Given the description of an element on the screen output the (x, y) to click on. 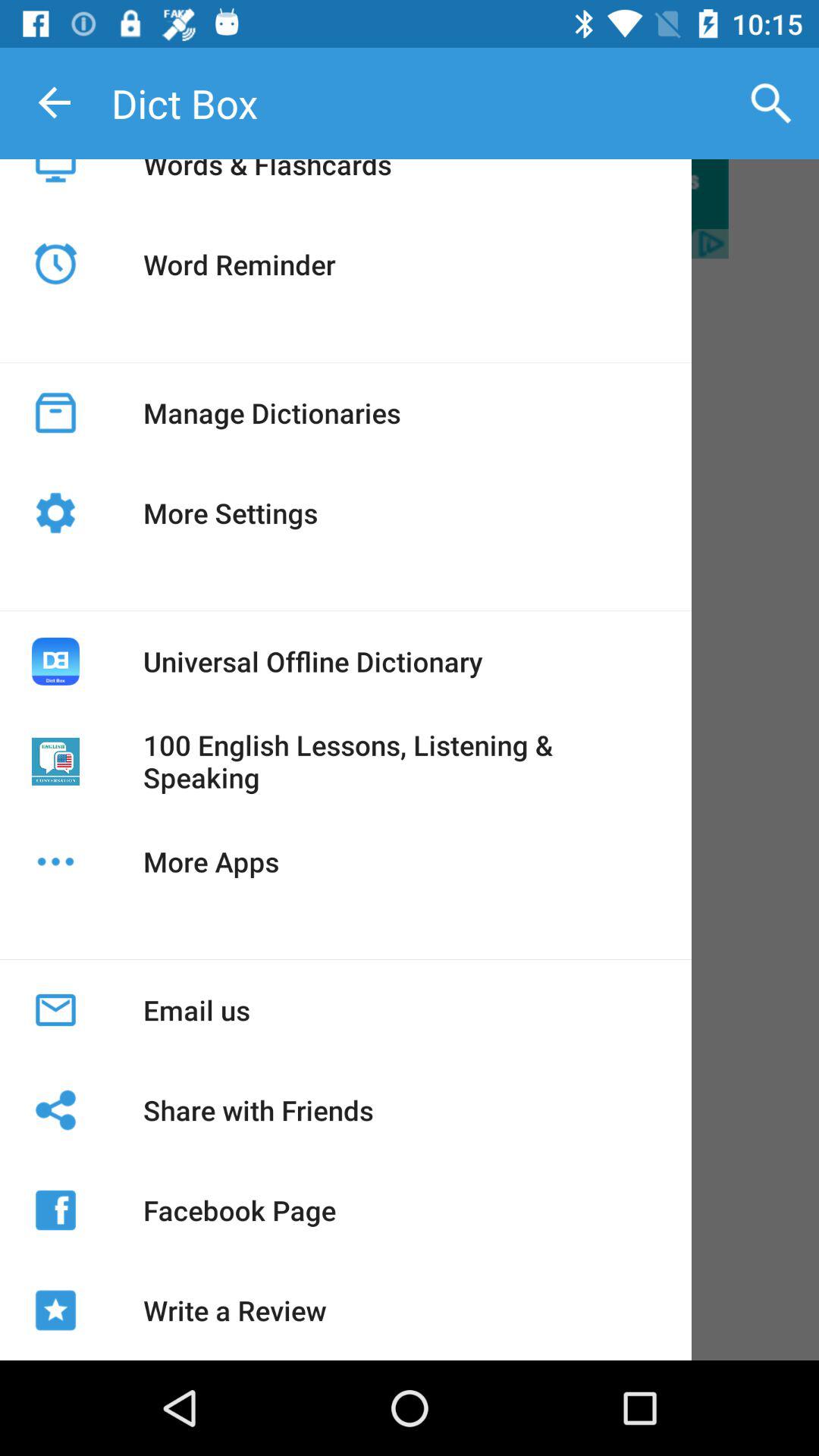
select words & flashcards (267, 181)
